Given the description of an element on the screen output the (x, y) to click on. 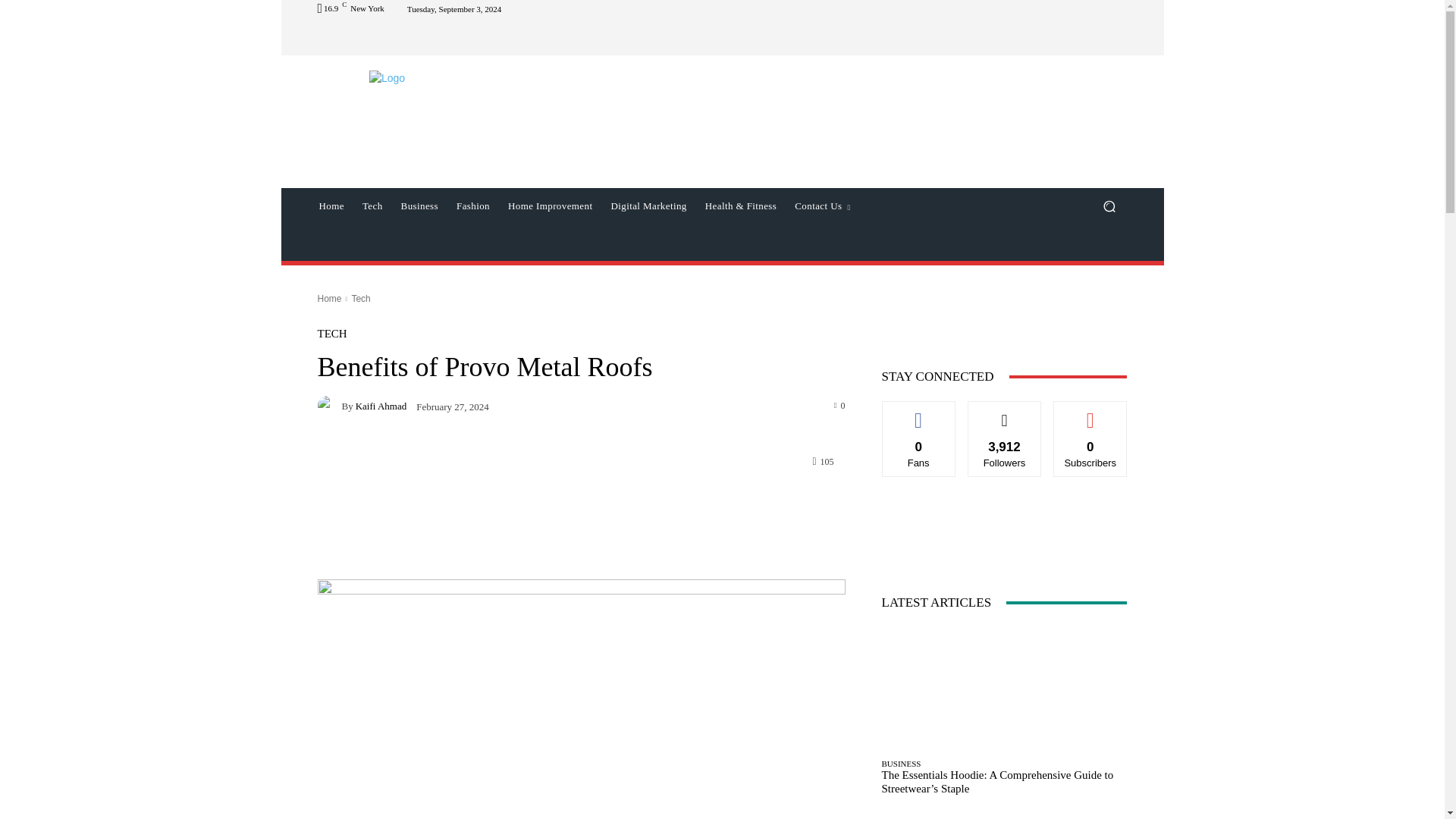
home-blog-68-1065x597-1 (580, 699)
Kaifi Ahmad (328, 405)
Fashion (472, 206)
Business (418, 206)
Tech (372, 206)
Home Improvement (550, 206)
Home (330, 206)
Contact Us (822, 206)
View all posts in Tech (359, 298)
Digital Marketing (648, 206)
